Given the description of an element on the screen output the (x, y) to click on. 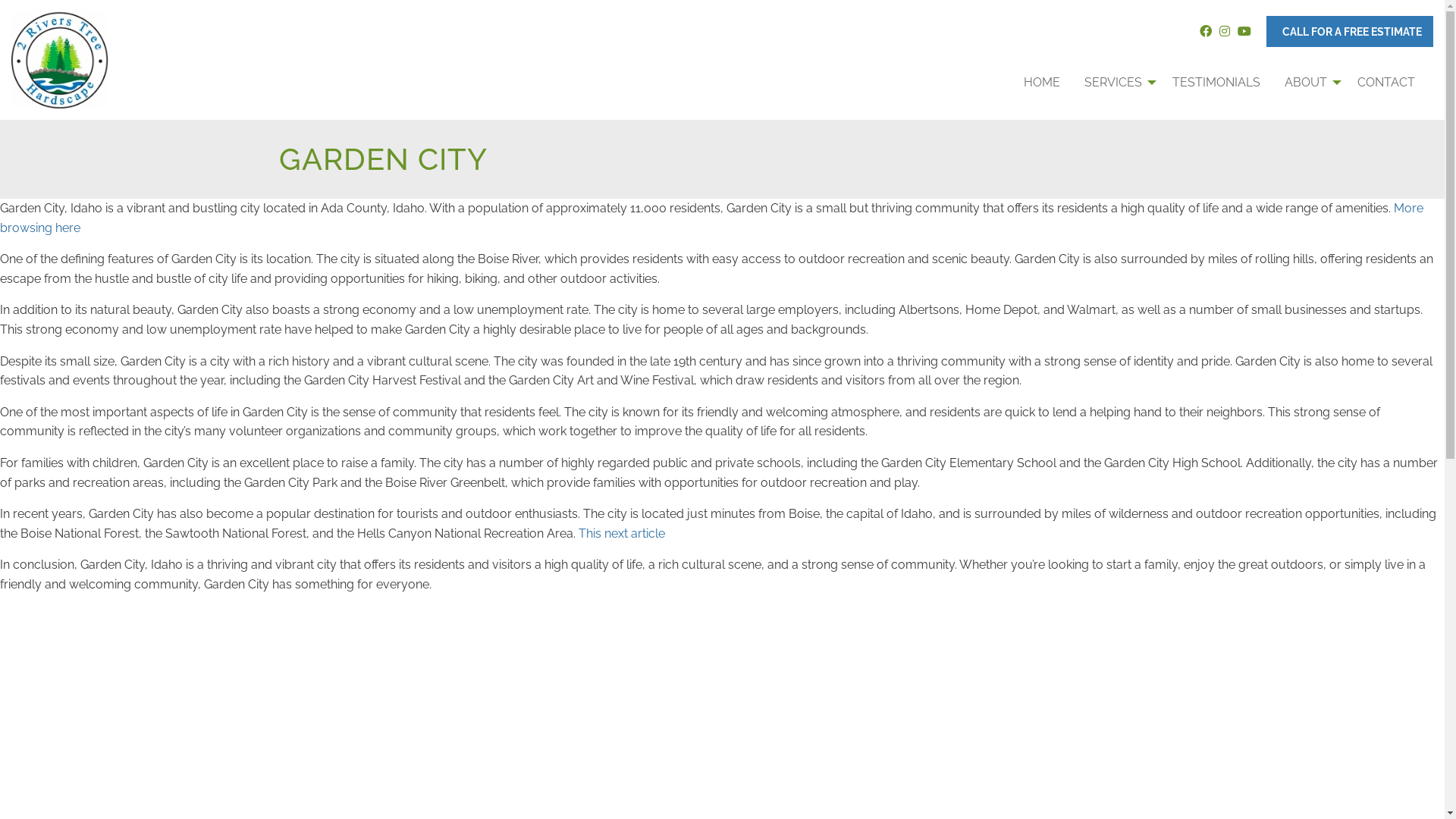
HOME Element type: text (1041, 82)
More browsing here Element type: text (711, 217)
TESTIMONIALS Element type: text (1216, 82)
CALL FOR A FREE ESTIMATE Element type: text (1349, 31)
ABOUT Element type: text (1308, 82)
This next article Element type: text (621, 533)
facebook Element type: text (1205, 31)
you-tube Element type: text (1244, 31)
CONTACT Element type: text (1386, 82)
SERVICES Element type: text (1116, 82)
instagram Element type: text (1224, 31)
